Given the description of an element on the screen output the (x, y) to click on. 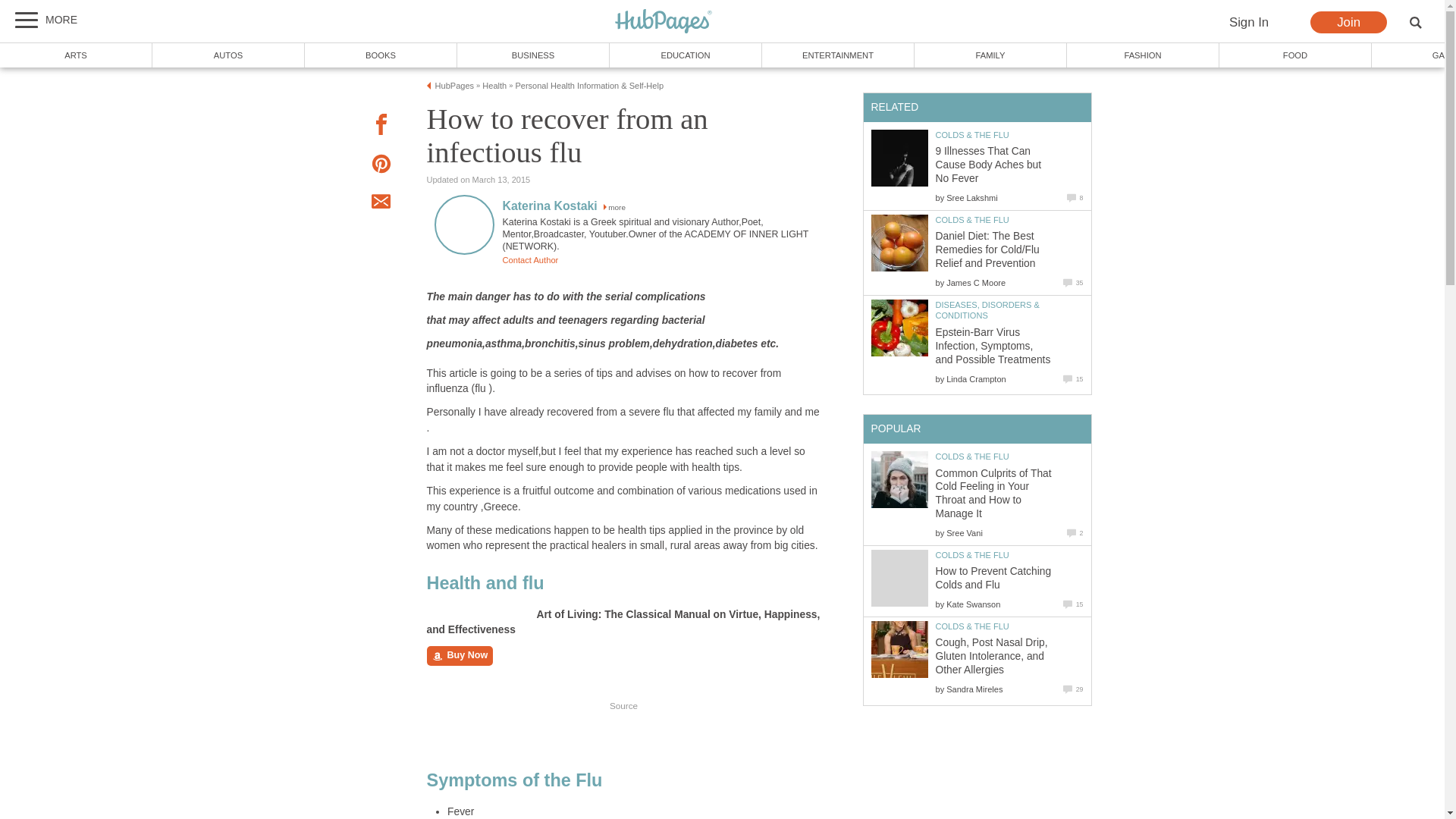
BUSINESS (533, 55)
FAMILY (990, 55)
Health (493, 85)
AUTOS (228, 55)
HubPages (663, 22)
FOOD (1295, 55)
Katerina Kostaki more (563, 207)
ARTS (76, 55)
HubPages (454, 85)
HubPages (663, 22)
Sign In (1248, 22)
Contact Author (529, 259)
